Given the description of an element on the screen output the (x, y) to click on. 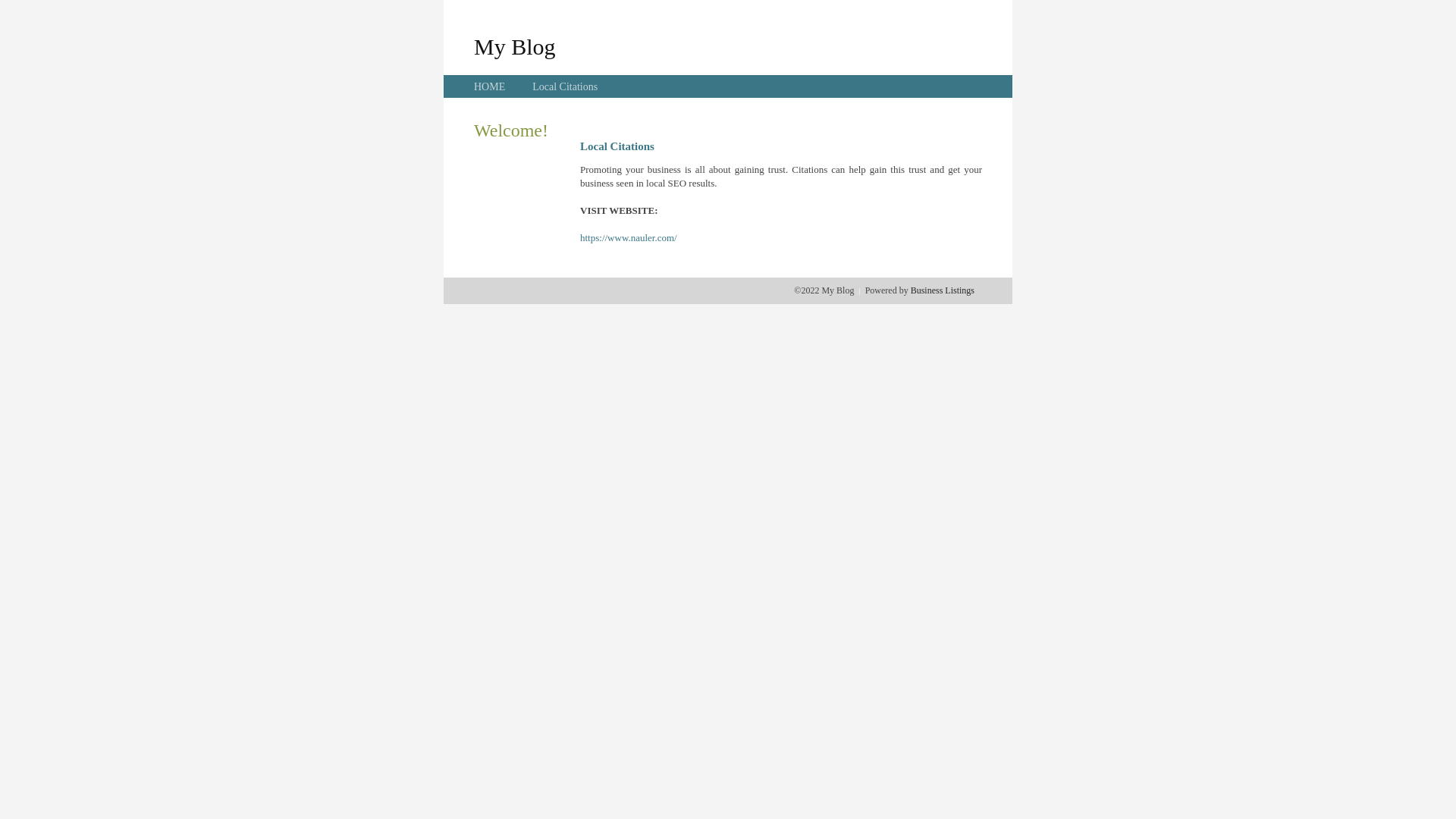
HOME Element type: text (489, 86)
My Blog Element type: text (514, 46)
Local Citations Element type: text (564, 86)
https://www.nauler.com/ Element type: text (628, 237)
Business Listings Element type: text (942, 290)
